Given the description of an element on the screen output the (x, y) to click on. 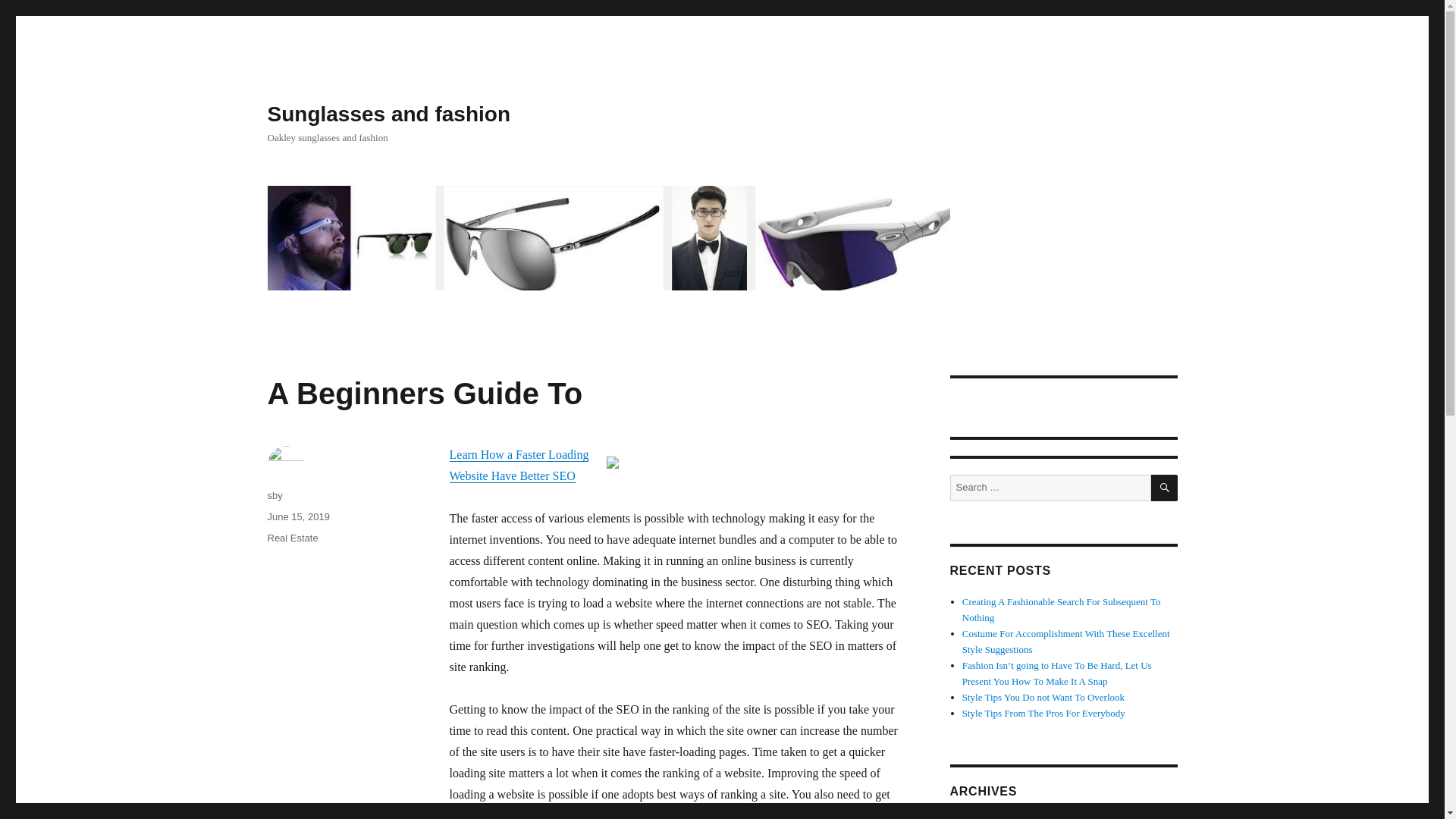
June 15, 2019 (297, 516)
December 2015 (993, 817)
SEARCH (1164, 488)
Style Tips You Do not Want To Overlook (1043, 696)
Learn How a Faster Loading Website Have Better SEO (518, 464)
Real Estate (291, 537)
sby (274, 495)
Creating A Fashionable Search For Subsequent To Nothing (1061, 609)
Sunglasses and fashion (388, 114)
